Given the description of an element on the screen output the (x, y) to click on. 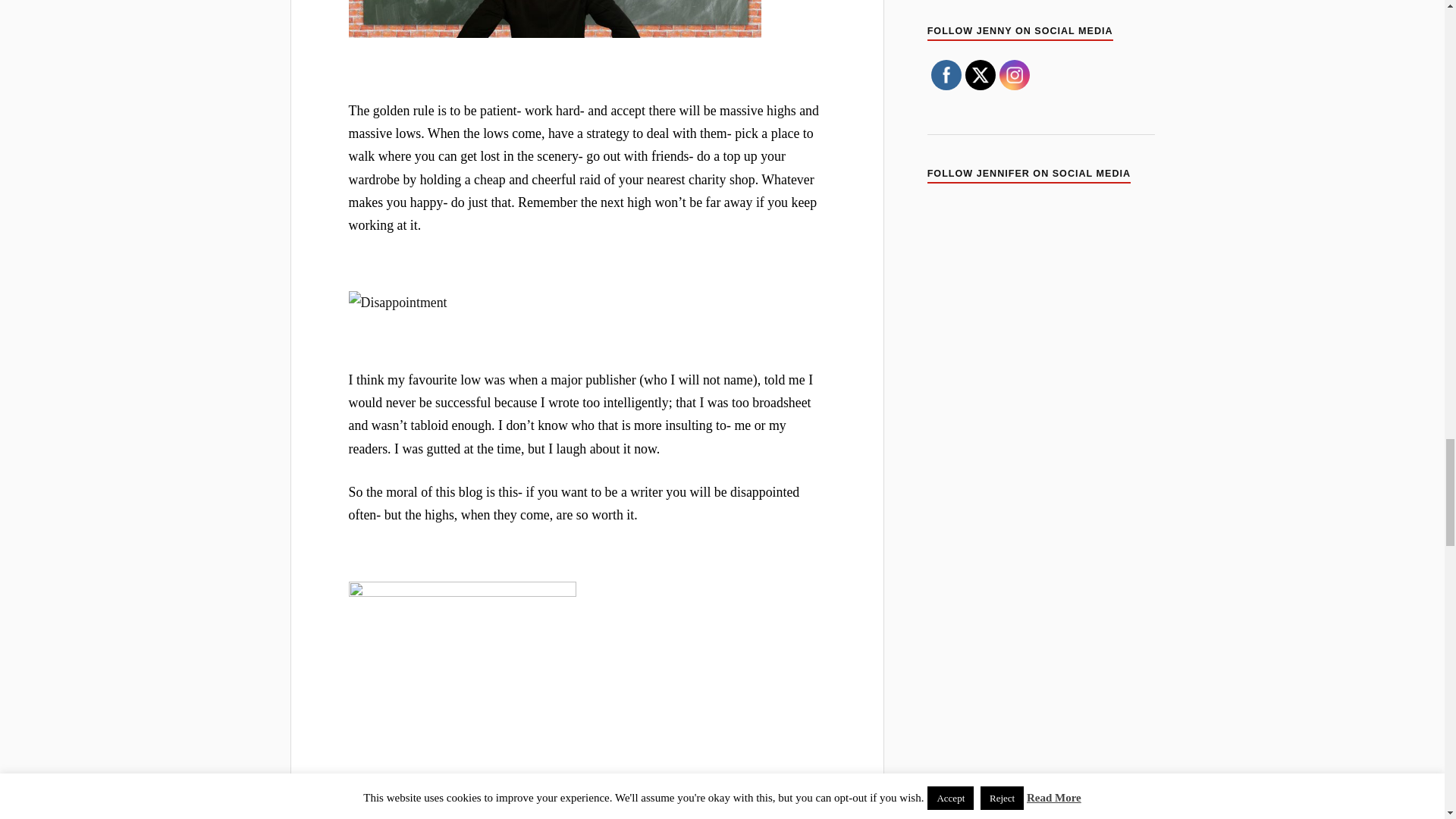
Facebook (946, 74)
Twitter (980, 74)
Instagram (1014, 74)
